Given the description of an element on the screen output the (x, y) to click on. 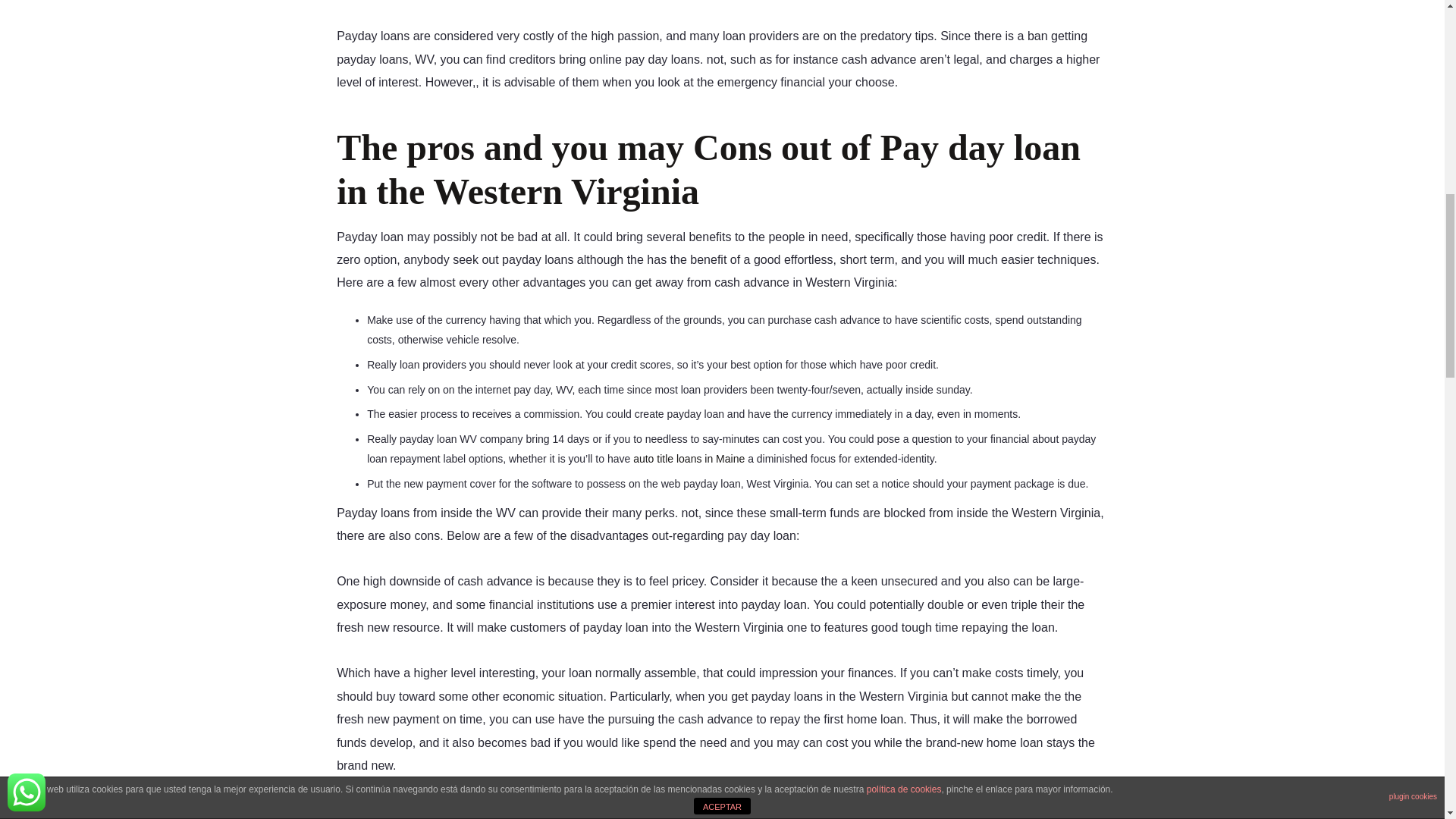
auto title loans in Maine (688, 458)
